Given the description of an element on the screen output the (x, y) to click on. 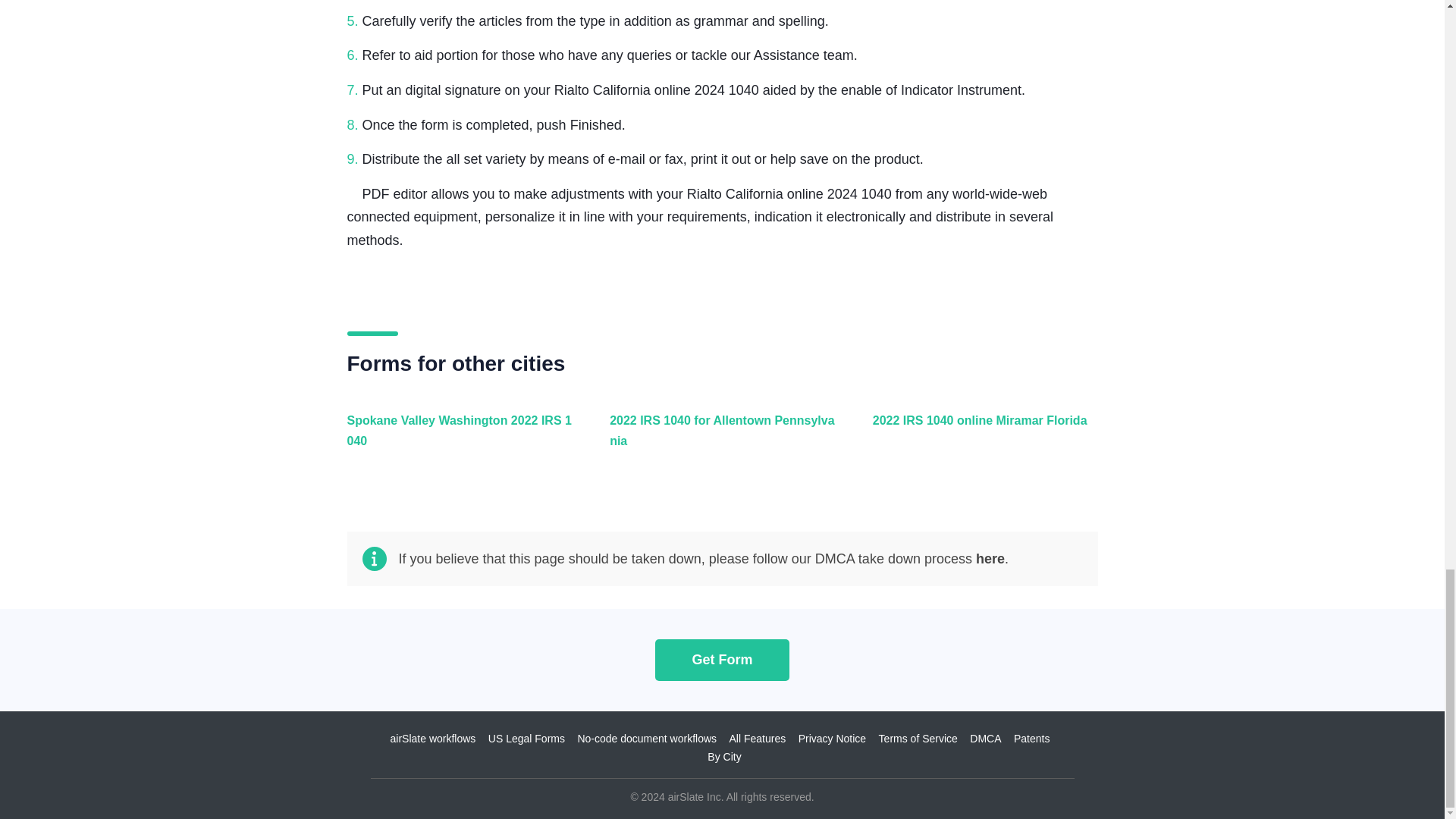
Patents (1031, 738)
Privacy Notice (831, 738)
All Features (757, 738)
2022 IRS 1040 for Allentown Pennsylvania (718, 438)
Spokane Valley Washington 2022 IRS 1040 (456, 438)
airSlate workflows (433, 738)
No-code document workflows (646, 738)
Get Form (722, 659)
Terms of Service (918, 738)
By City (724, 756)
